Given the description of an element on the screen output the (x, y) to click on. 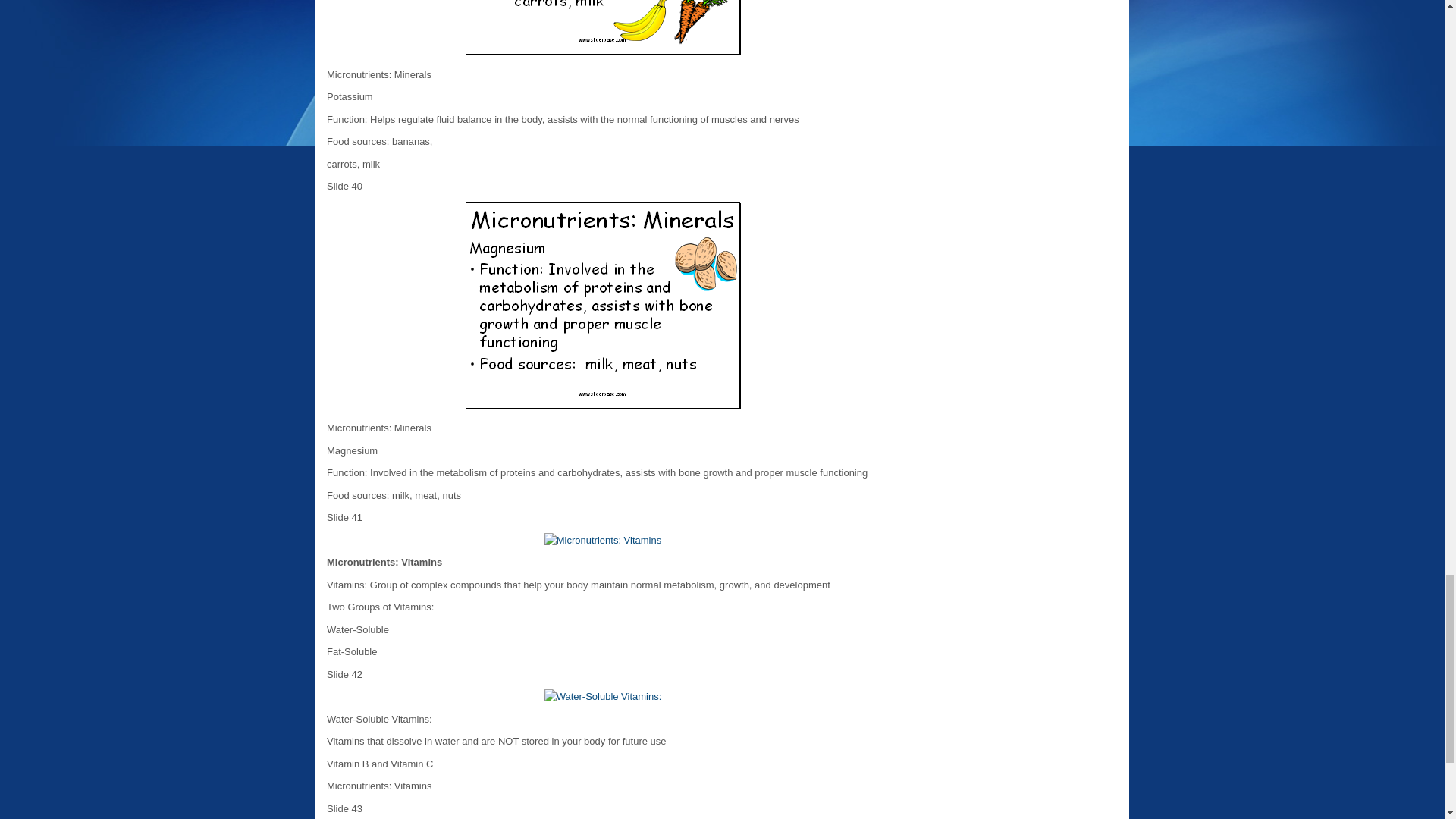
Micronutrients: Vitamins (602, 539)
Micronutrients: Minerals (602, 305)
Micronutrients: Minerals (602, 27)
Water-Soluble Vitamins: (603, 696)
